Given the description of an element on the screen output the (x, y) to click on. 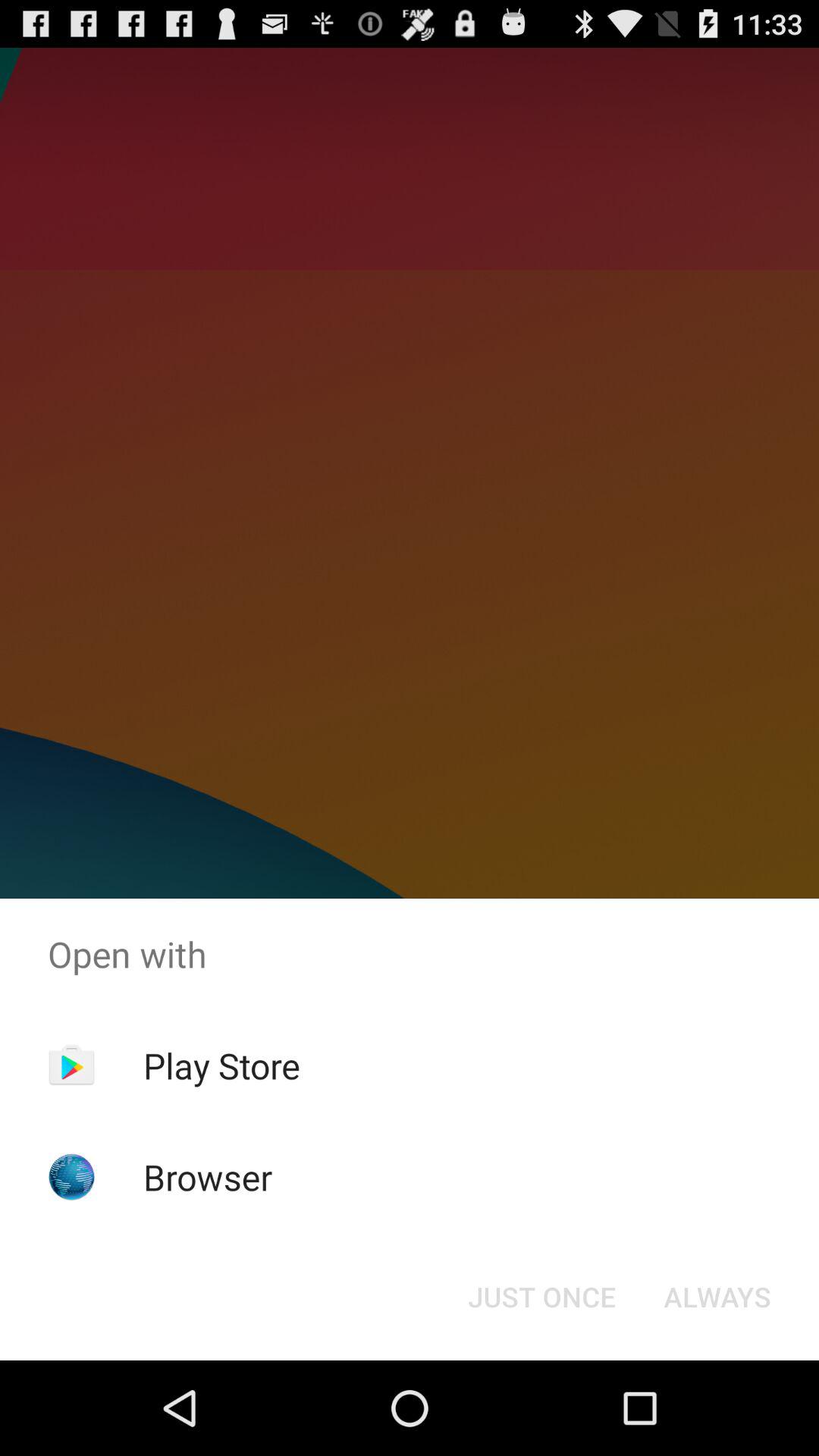
jump until play store app (221, 1065)
